Given the description of an element on the screen output the (x, y) to click on. 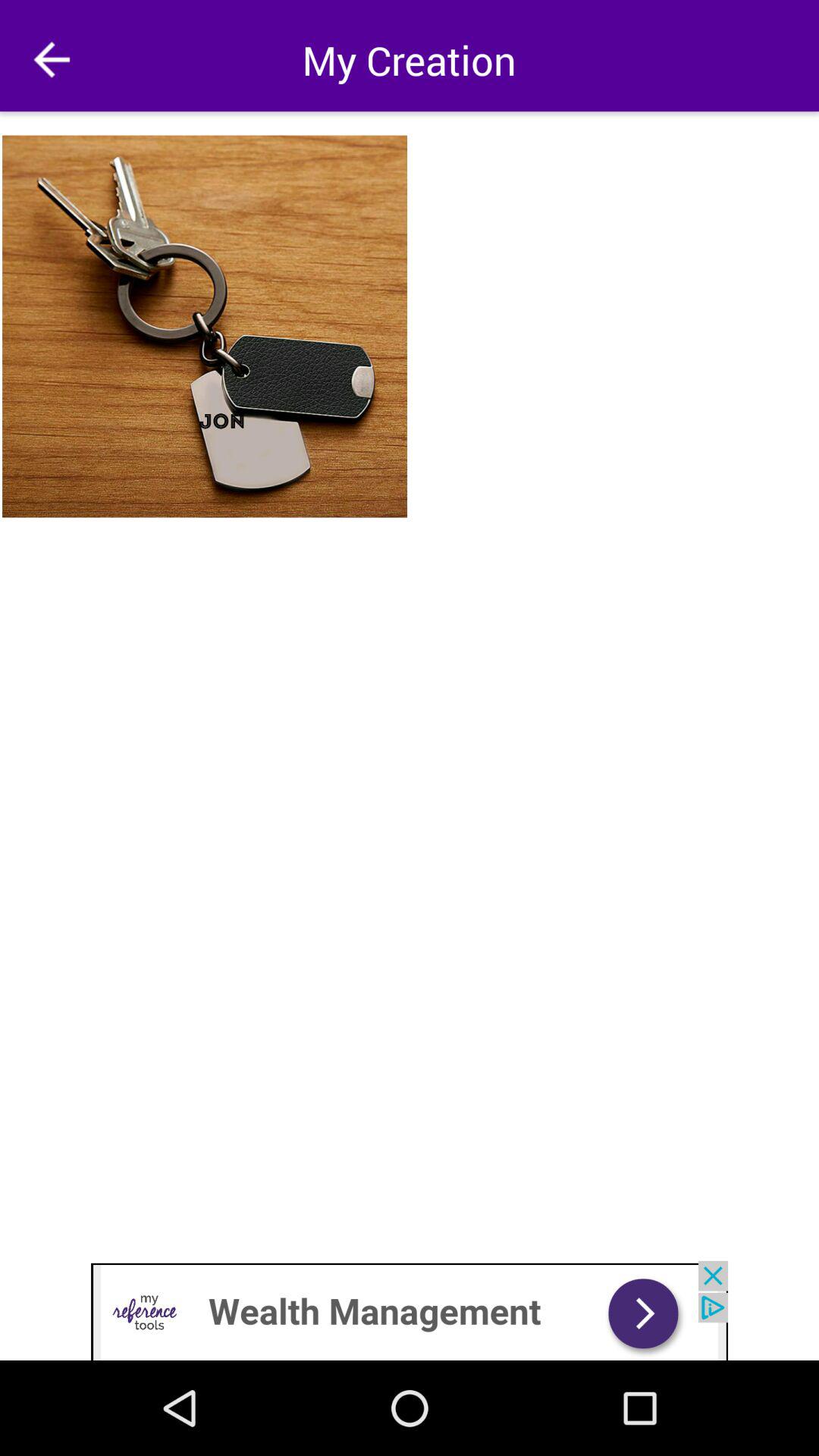
go back (51, 59)
